Given the description of an element on the screen output the (x, y) to click on. 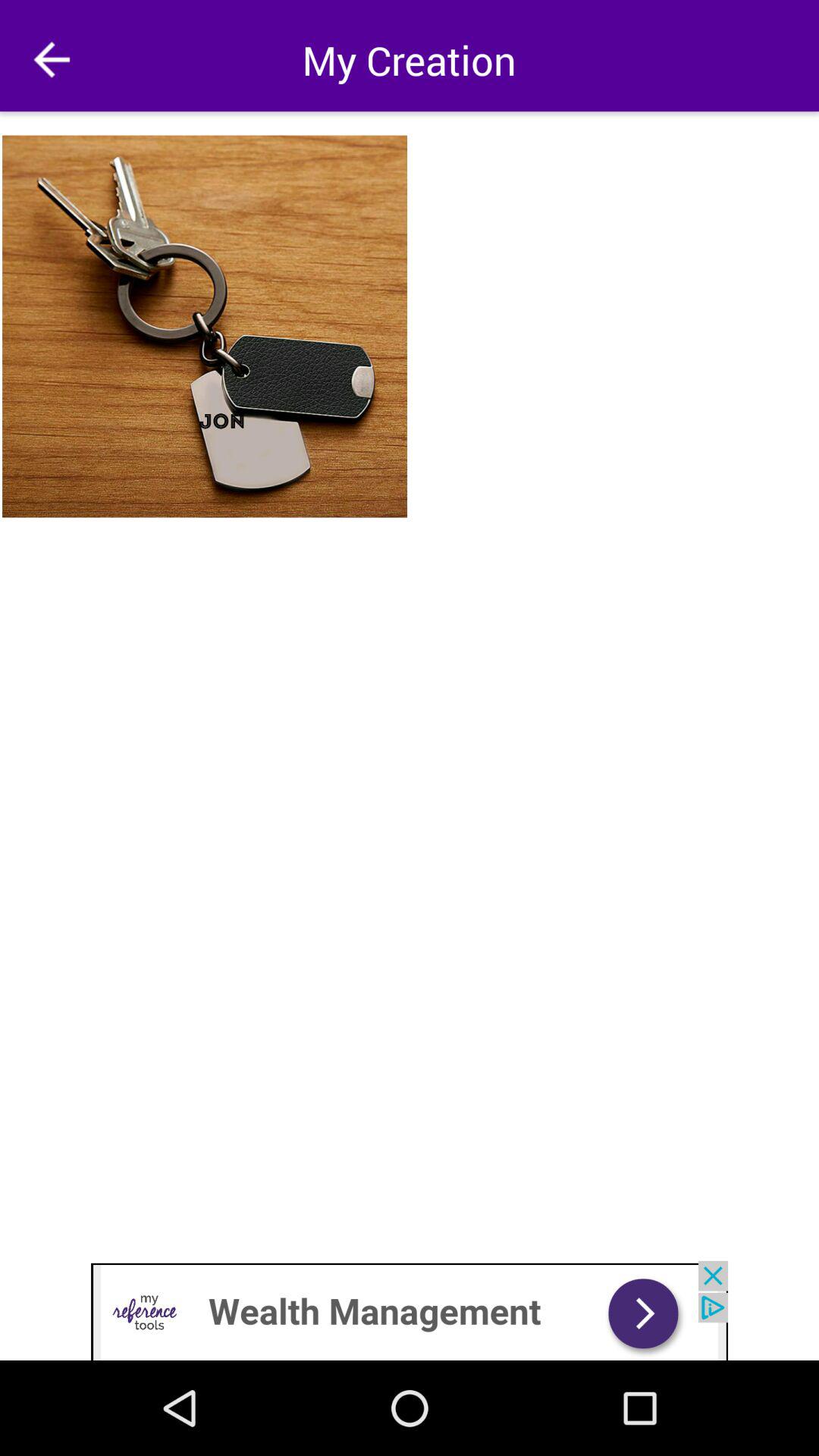
go back (51, 59)
